Given the description of an element on the screen output the (x, y) to click on. 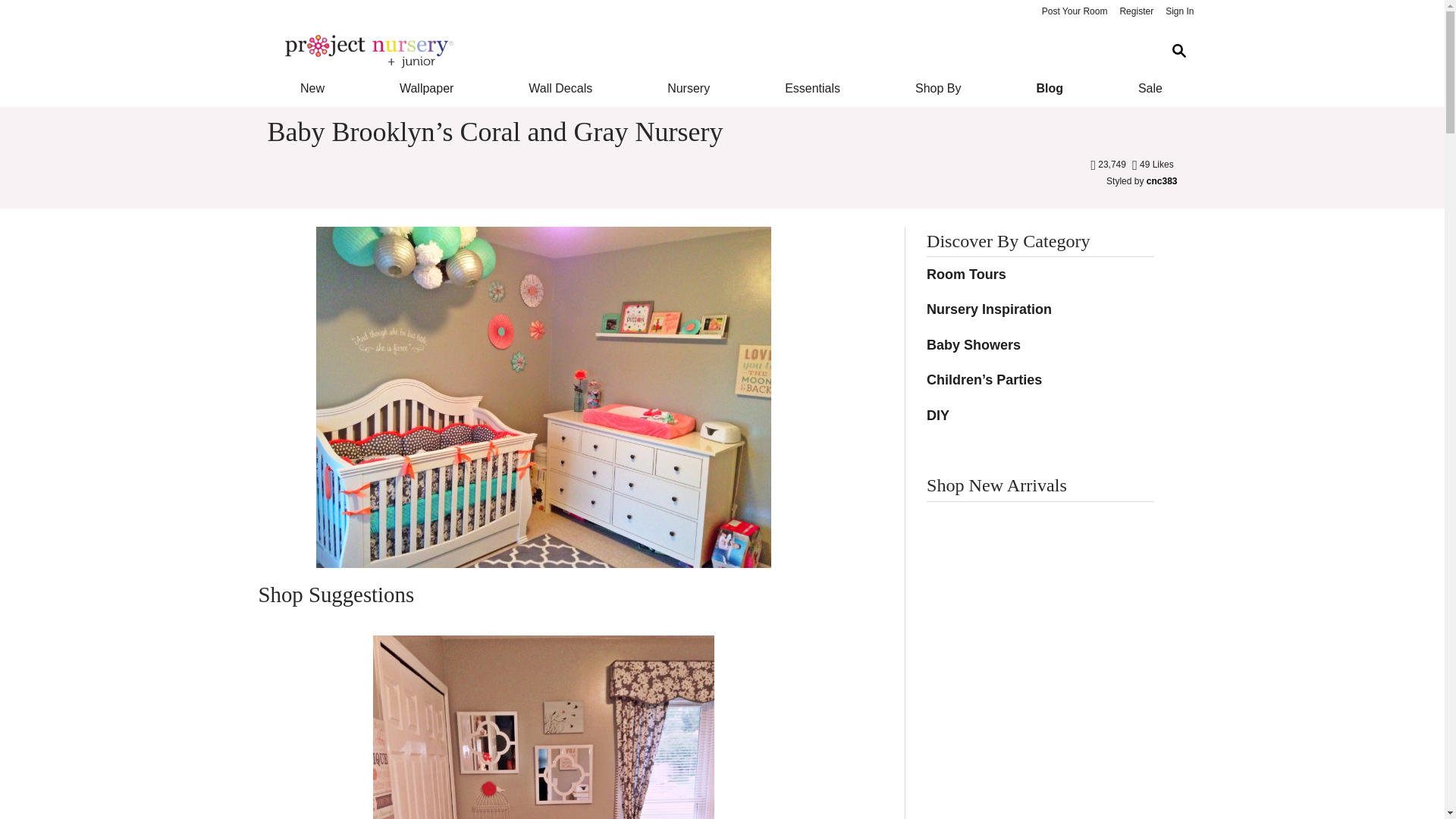
Post Your Room (1074, 11)
Project Nursery (709, 51)
Wall Decals (561, 88)
Register (1135, 11)
Sign In (1178, 11)
Search (1178, 50)
Post Your Room (1074, 11)
Views (1109, 163)
New (311, 88)
Nursery (689, 88)
Wallpaper (425, 88)
